Given the description of an element on the screen output the (x, y) to click on. 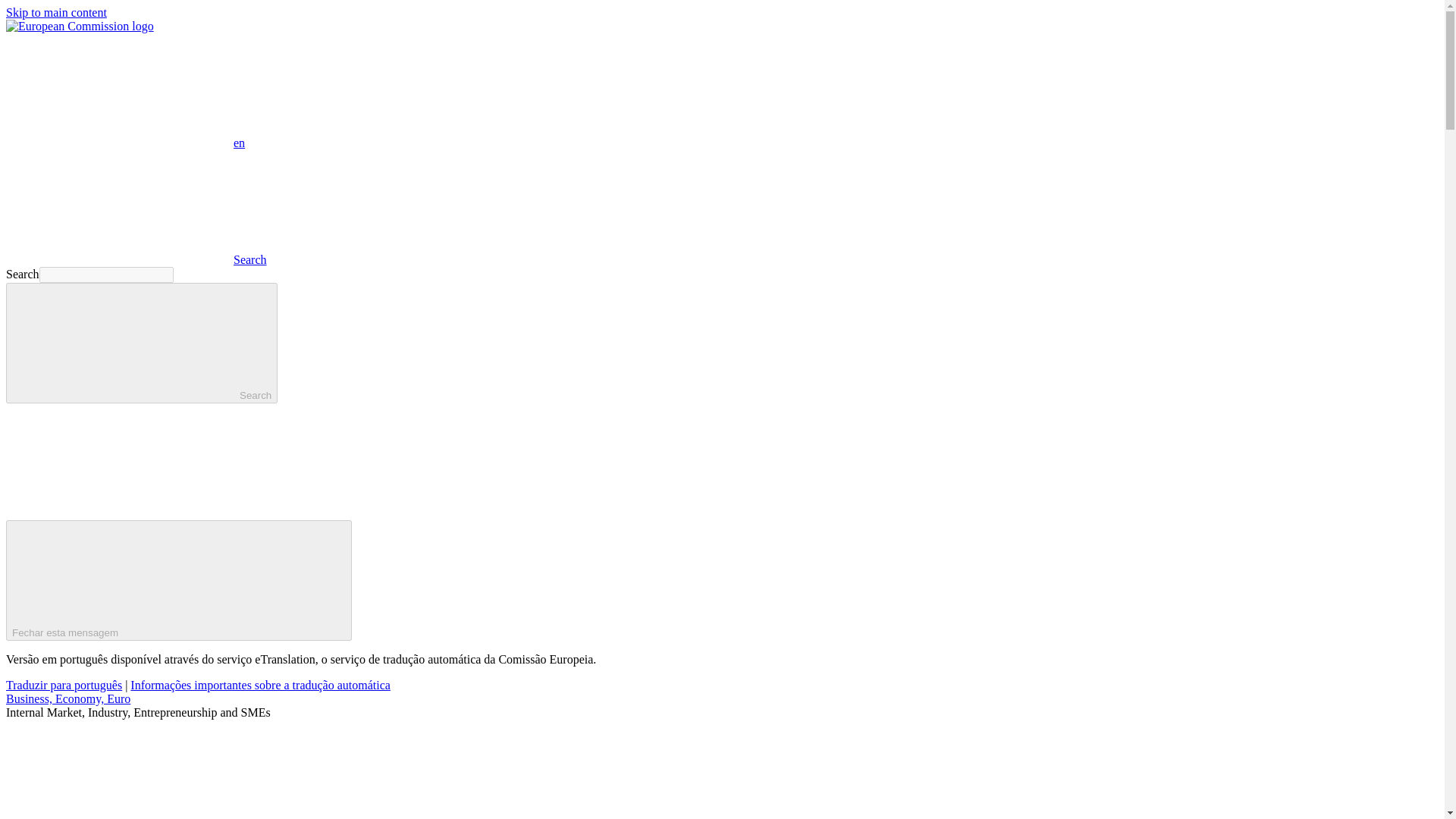
Search (135, 259)
enen (124, 142)
Skip to main content (55, 11)
Fechar esta mensagem (178, 580)
Business, Economy, Euro (68, 698)
Search (141, 342)
European Commission (79, 25)
en (118, 90)
